Given the description of an element on the screen output the (x, y) to click on. 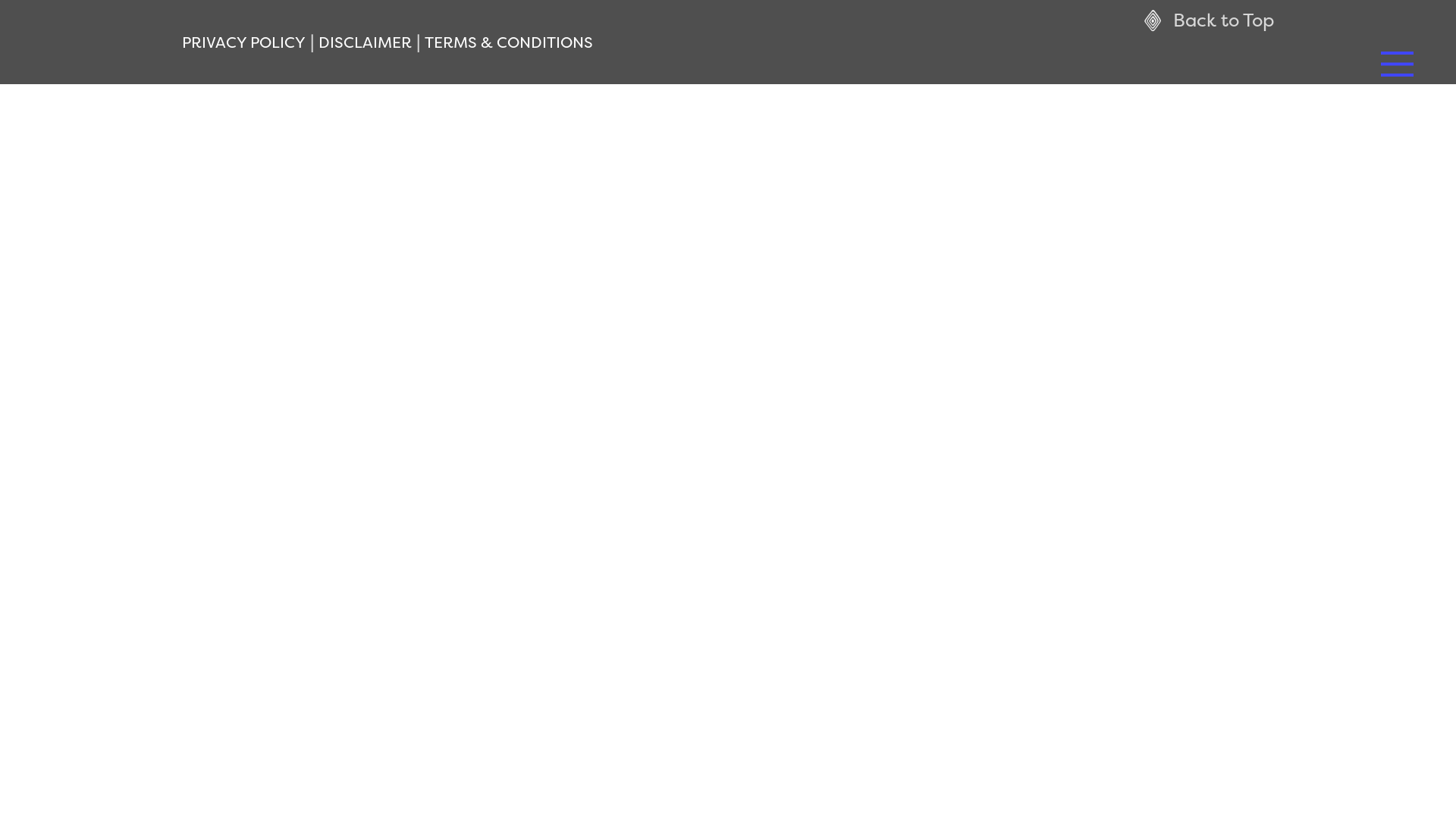
TERMS & CONDITIONS Element type: text (508, 41)
PRIVACY POLICY Element type: text (243, 41)
DISCLAIMER Element type: text (364, 41)
